Given the description of an element on the screen output the (x, y) to click on. 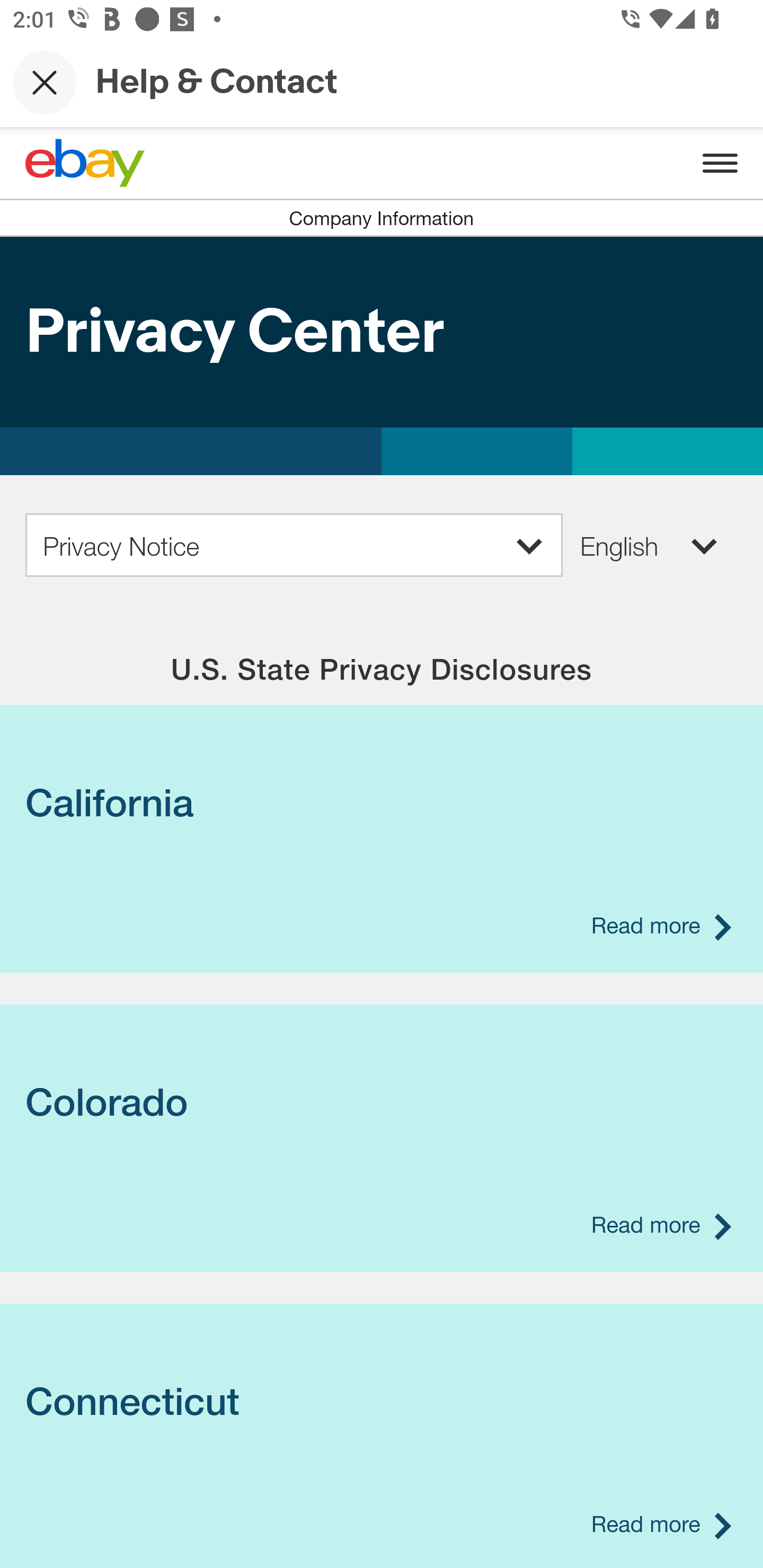
Close (44, 82)
Menu (720, 163)
Home (84, 162)
backpack (381, 330)
Privacy Notice (294, 544)
English (650, 544)
California Read more California Read more  (381, 803)
Read more  (659, 924)
Colorado Read more Colorado Read more  (381, 1101)
Read more  (659, 1224)
Connecticut Read more Connecticut Read more  (381, 1401)
Read more  (659, 1522)
